Given the description of an element on the screen output the (x, y) to click on. 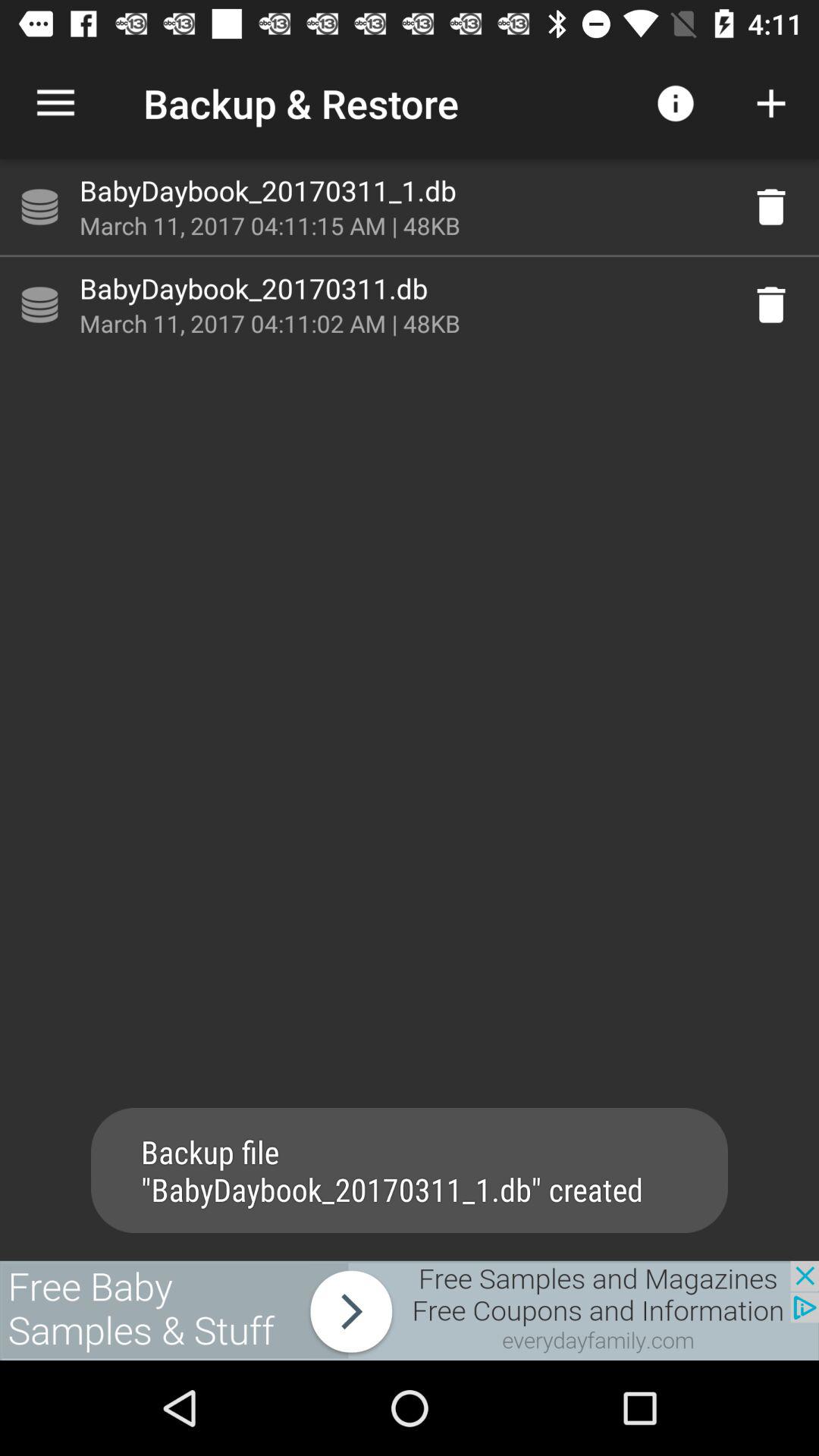
delete database backup (771, 206)
